Given the description of an element on the screen output the (x, y) to click on. 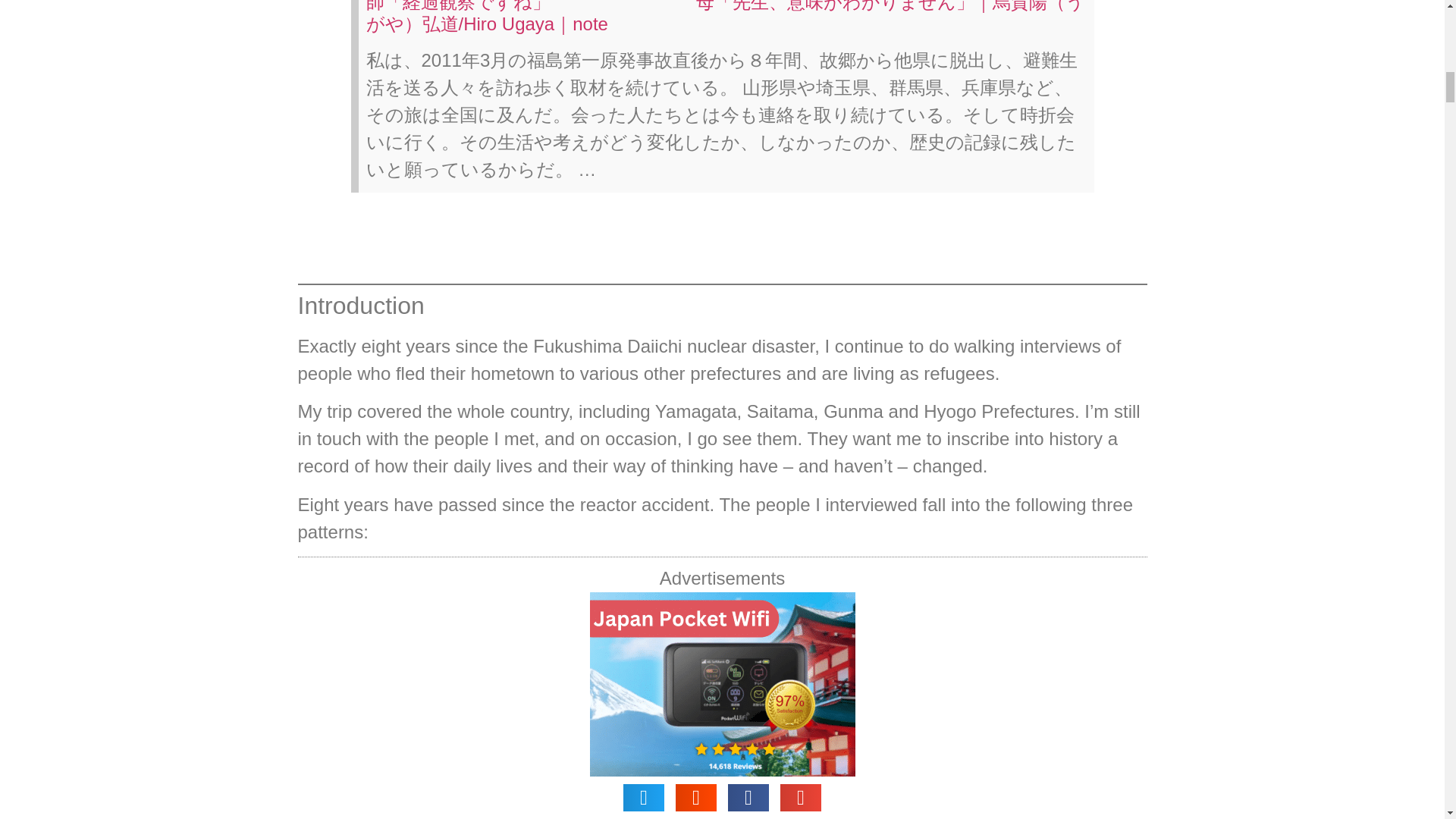
rent a pocket wifi device (778, 805)
